Given the description of an element on the screen output the (x, y) to click on. 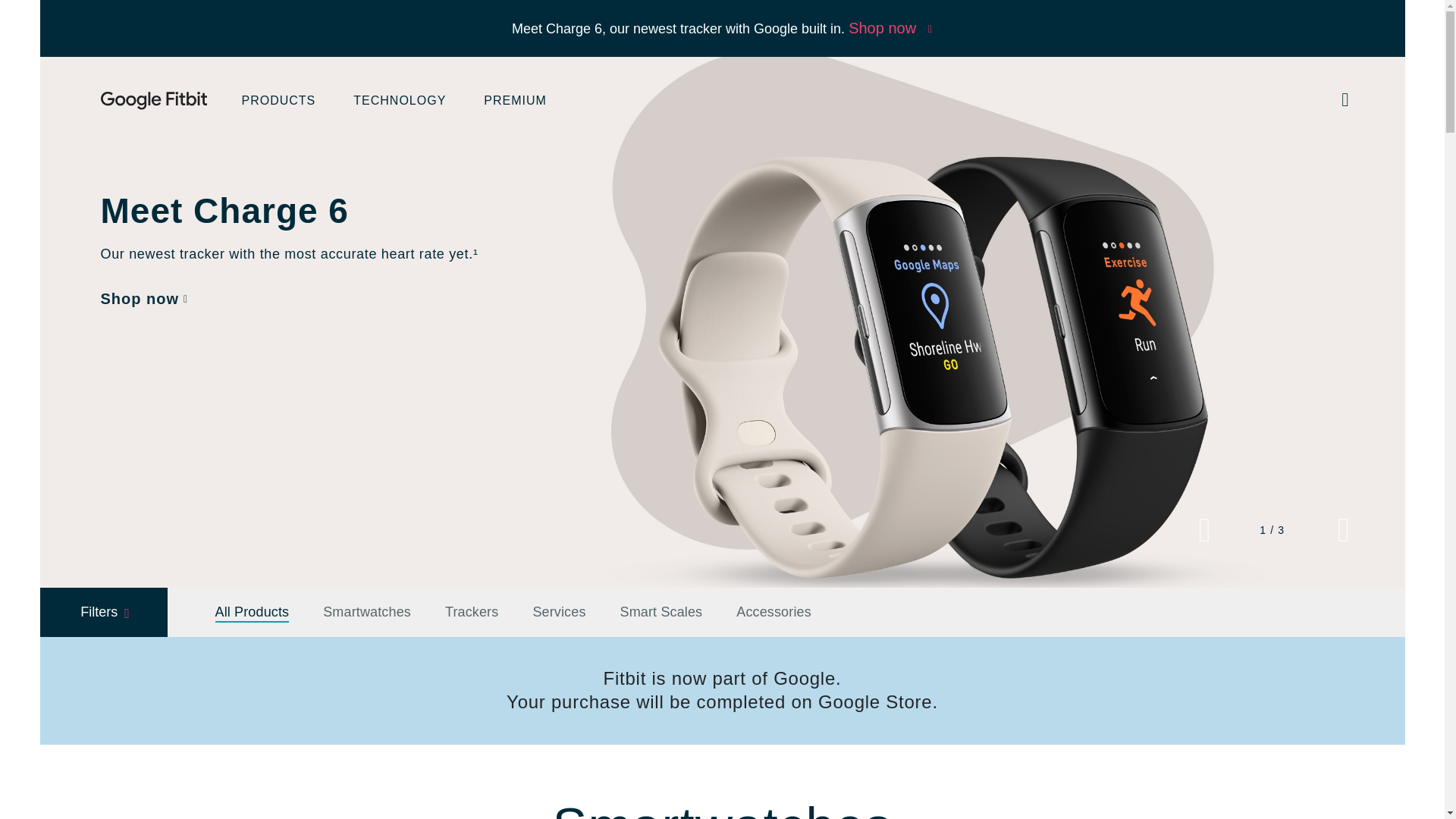
TECHNOLOGY (399, 101)
PRODUCTS (278, 101)
PREMIUM (515, 101)
